Given the description of an element on the screen output the (x, y) to click on. 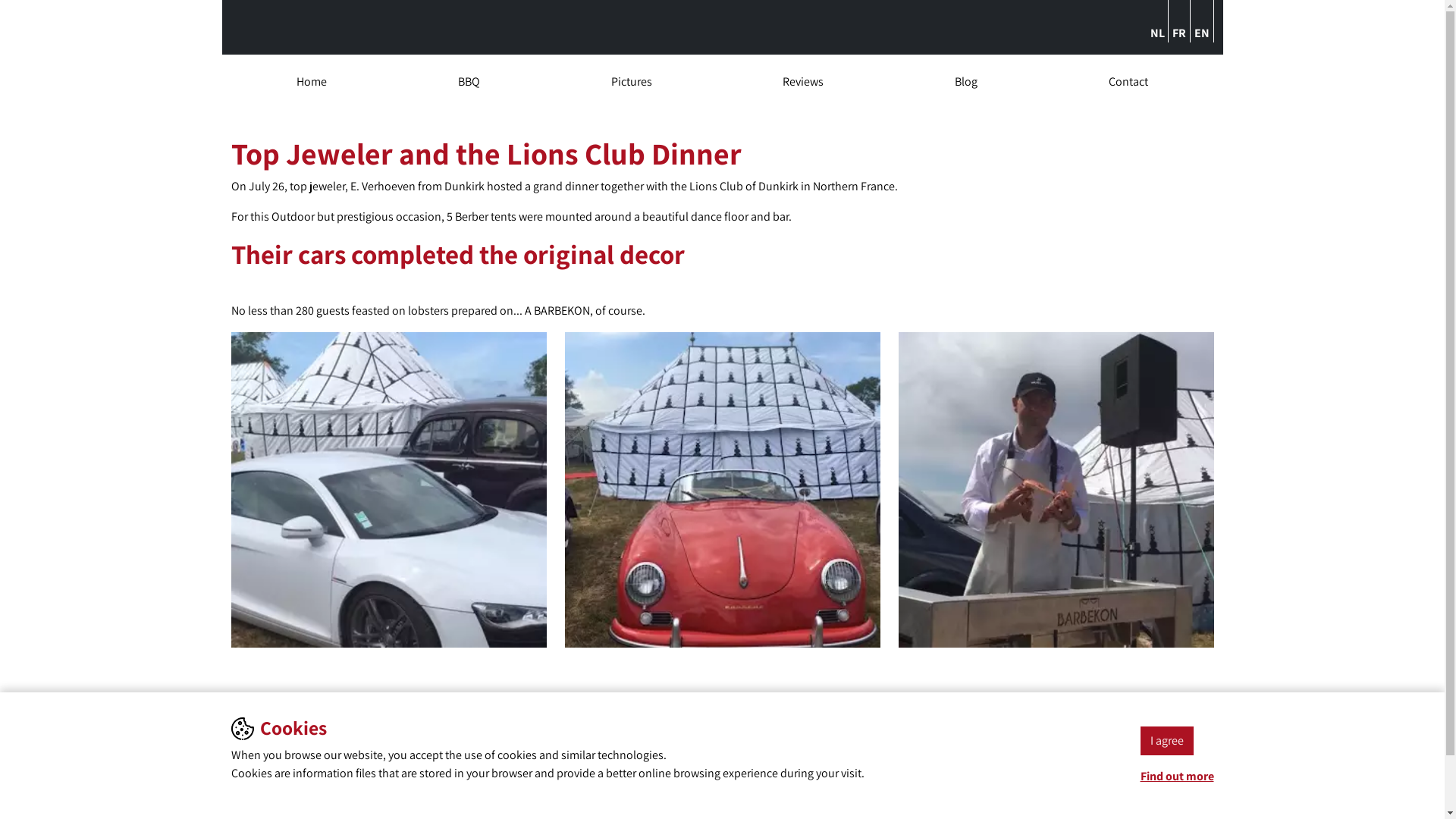
tent en bbq -  - Top Jeweler and the Lions Club Dinner Element type: hover (1055, 489)
Reviews Element type: text (802, 81)
Home Element type: text (311, 81)
Pictures Element type: text (631, 81)
Blog Element type: text (965, 81)
Contact Element type: text (249, 800)
auto 2 -  - Top Jeweler and the Lions Club Dinner Element type: hover (721, 489)
Blog Element type: text (241, 782)
Pictures Element type: text (250, 745)
BBQ Element type: text (469, 81)
EN Element type: text (1201, 32)
Find out more Element type: text (1177, 776)
NL Element type: text (1157, 32)
BBQ Element type: text (241, 727)
Contact Element type: text (1128, 81)
I agree Element type: text (1166, 740)
Reviews Element type: text (250, 763)
FR Element type: text (1179, 32)
auto 1 -  - Top Jeweler and the Lions Club Dinner Element type: hover (388, 489)
